Given the description of an element on the screen output the (x, y) to click on. 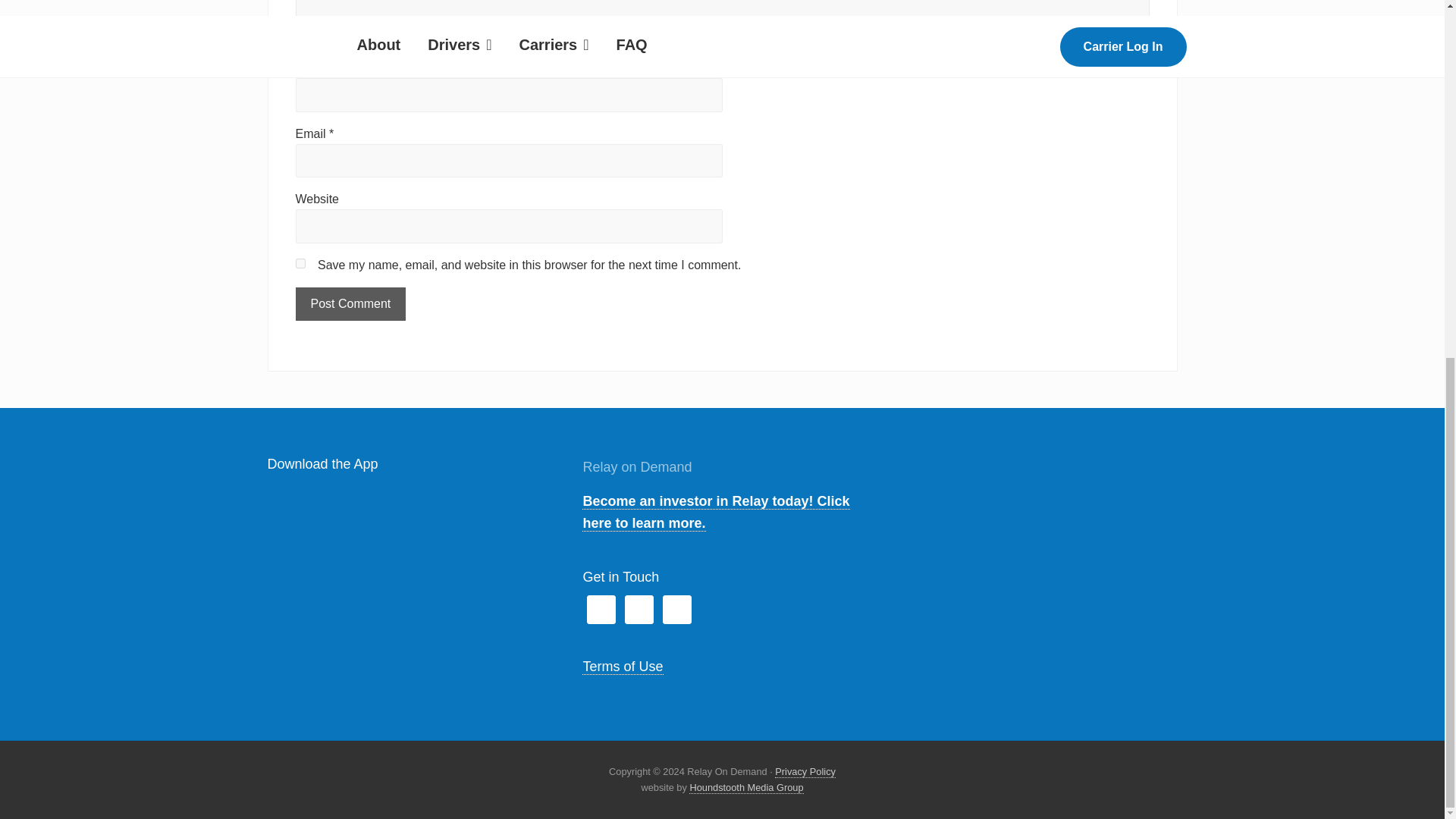
Post Comment (350, 304)
Post Comment (350, 304)
yes (300, 263)
